Given the description of an element on the screen output the (x, y) to click on. 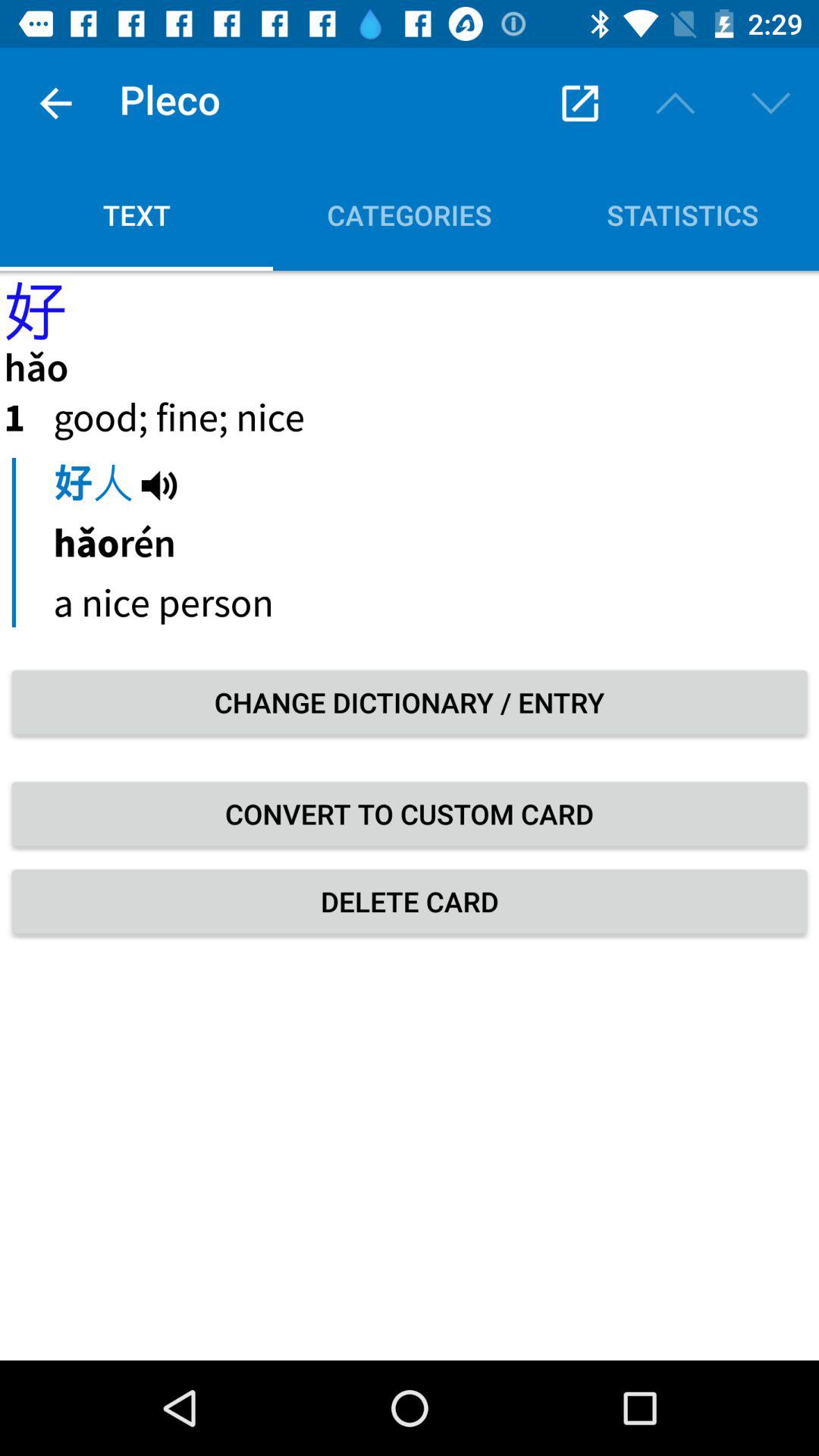
press item to the left of the statistics item (409, 214)
